Given the description of an element on the screen output the (x, y) to click on. 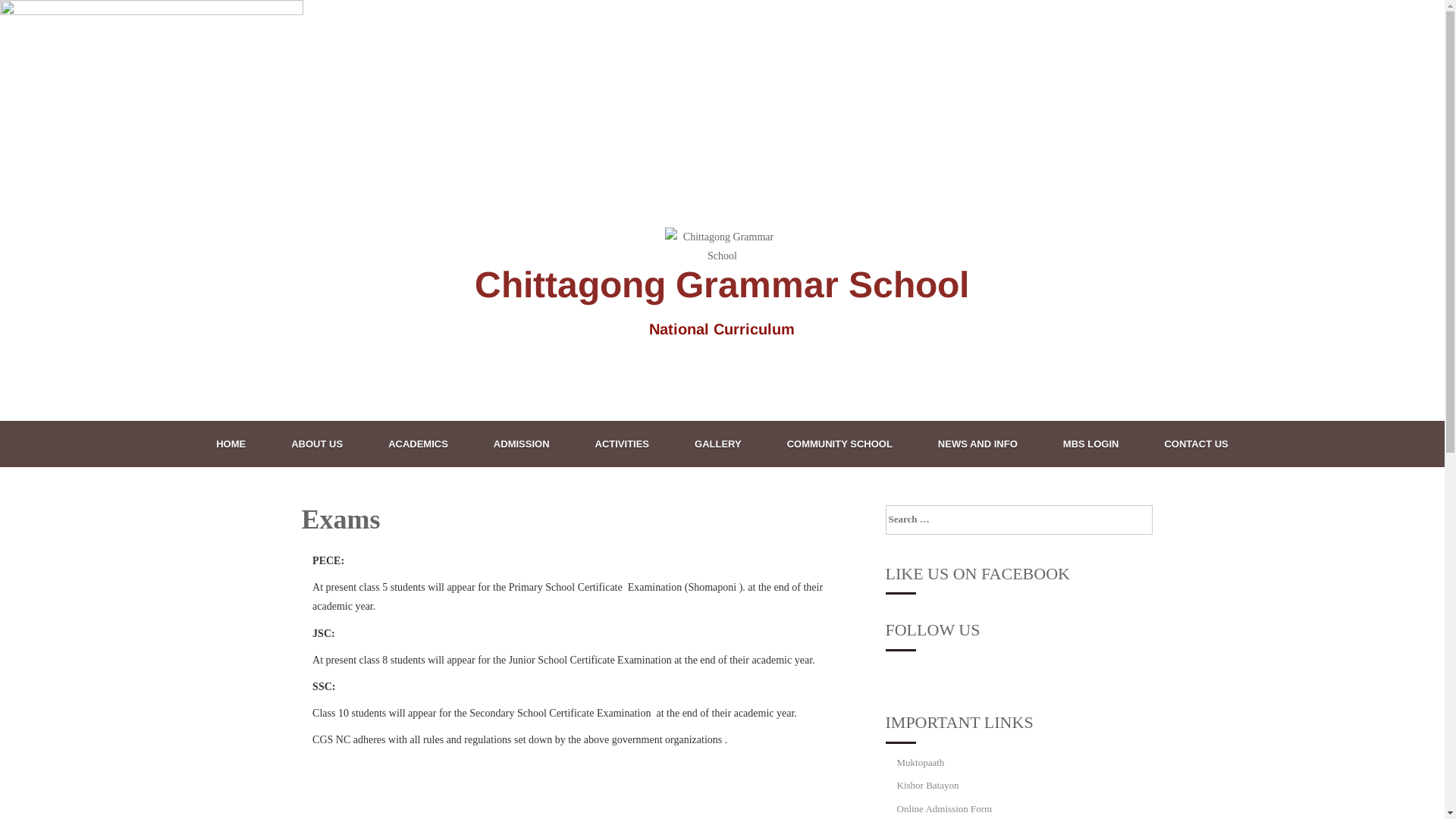
MBS LOGIN Element type: text (1090, 443)
Chittagong Grammar School Element type: text (721, 284)
instagram Element type: hover (920, 674)
Online Admission Form Element type: text (943, 808)
Search Element type: text (14, 6)
Muktopaath Element type: text (920, 762)
ADMISSION Element type: text (521, 443)
ACADEMICS Element type: text (417, 443)
COMMUNITY SCHOOL Element type: text (839, 443)
ACTIVITIES Element type: text (622, 443)
GALLERY Element type: text (718, 443)
ABOUT US Element type: text (316, 443)
HOME Element type: text (230, 443)
Kishor Batayon Element type: text (927, 784)
youtube Element type: hover (938, 674)
NEWS AND INFO Element type: text (977, 443)
youtube Element type: hover (938, 669)
facebook Element type: hover (903, 674)
facebook Element type: hover (903, 669)
CONTACT US Element type: text (1195, 443)
instagram Element type: hover (920, 669)
Skip to content Element type: text (0, 151)
